Given the description of an element on the screen output the (x, y) to click on. 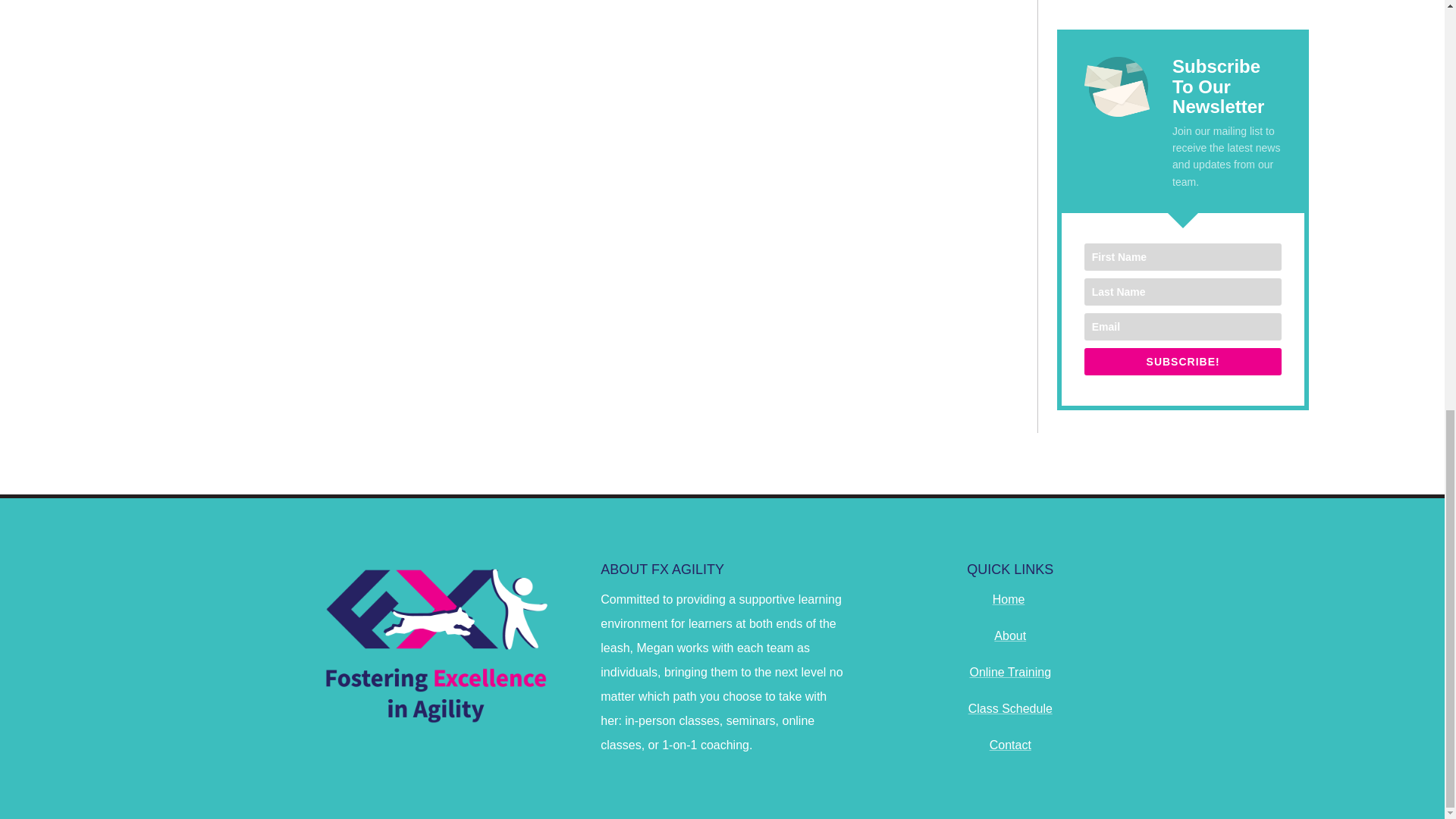
SUBSCRIBE! (1183, 361)
FX-Agillity-Logo-forTEALbkgnd (433, 643)
Online Training (1010, 671)
About (1010, 635)
Home (1008, 599)
Class Schedule (1010, 707)
Contact (1010, 744)
